Given the description of an element on the screen output the (x, y) to click on. 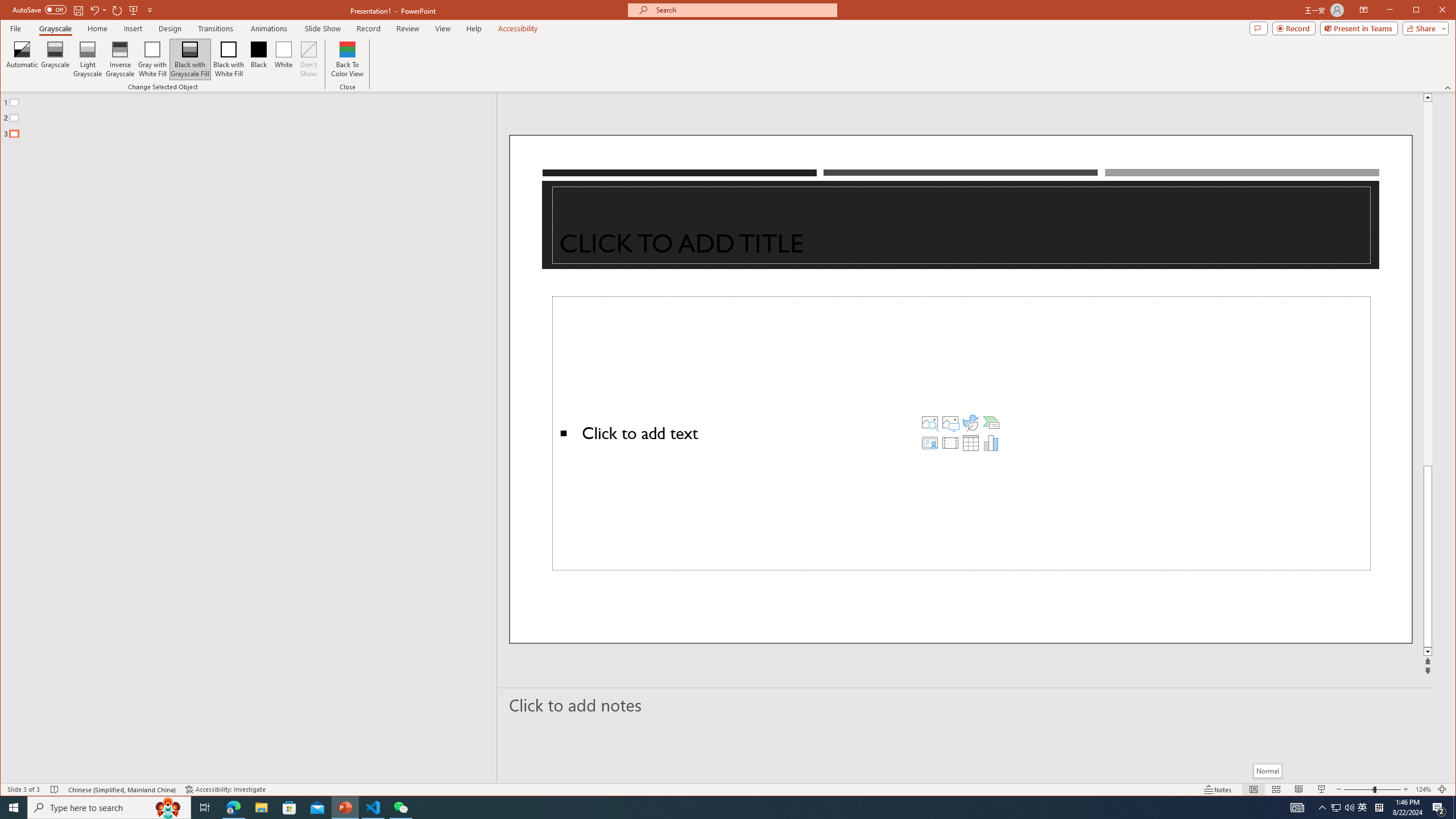
Slide Notes (965, 704)
Action Center, 2 new notifications (1439, 807)
Pictures (949, 422)
